Given the description of an element on the screen output the (x, y) to click on. 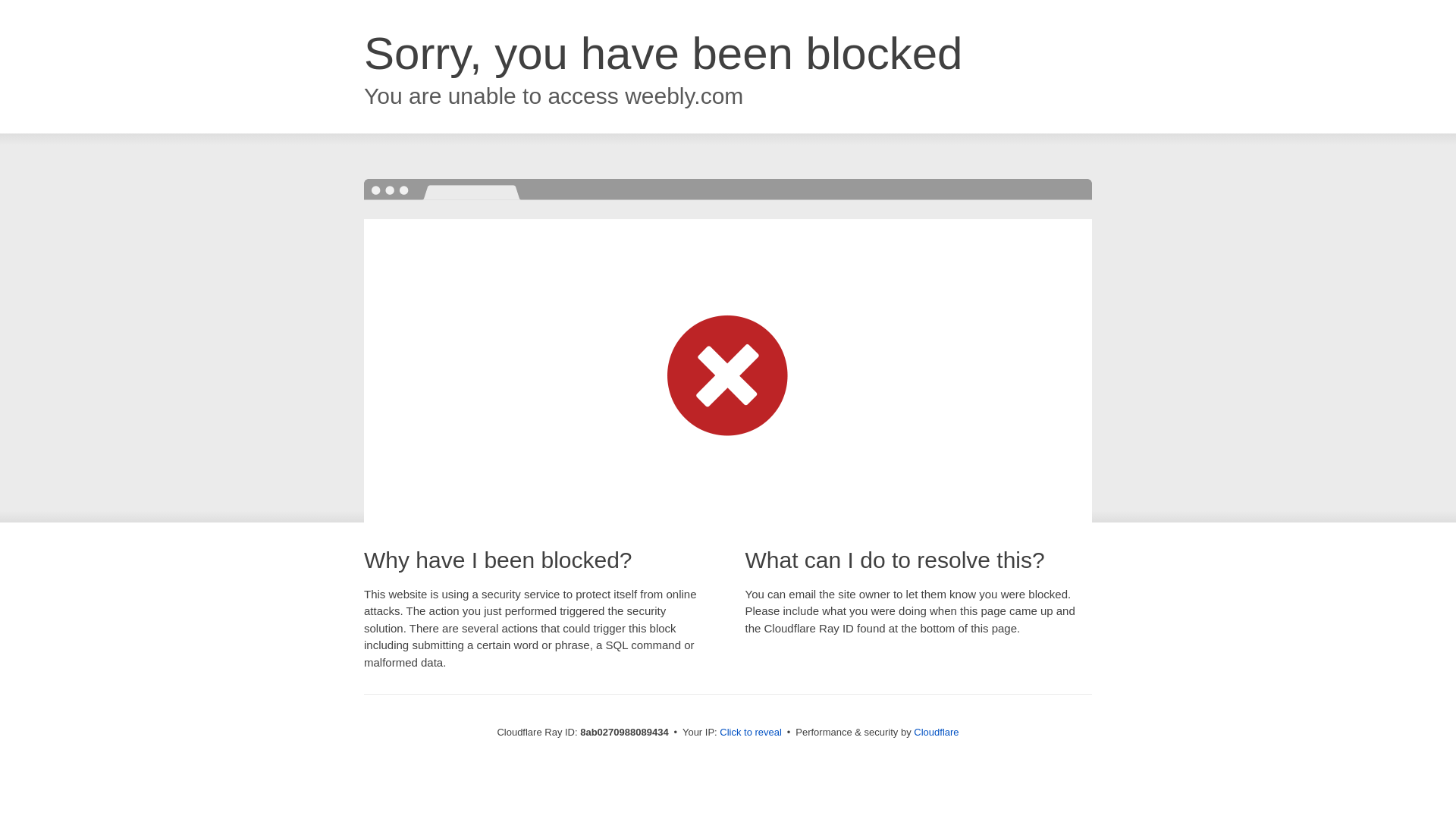
Cloudflare (936, 731)
Click to reveal (750, 732)
